Given the description of an element on the screen output the (x, y) to click on. 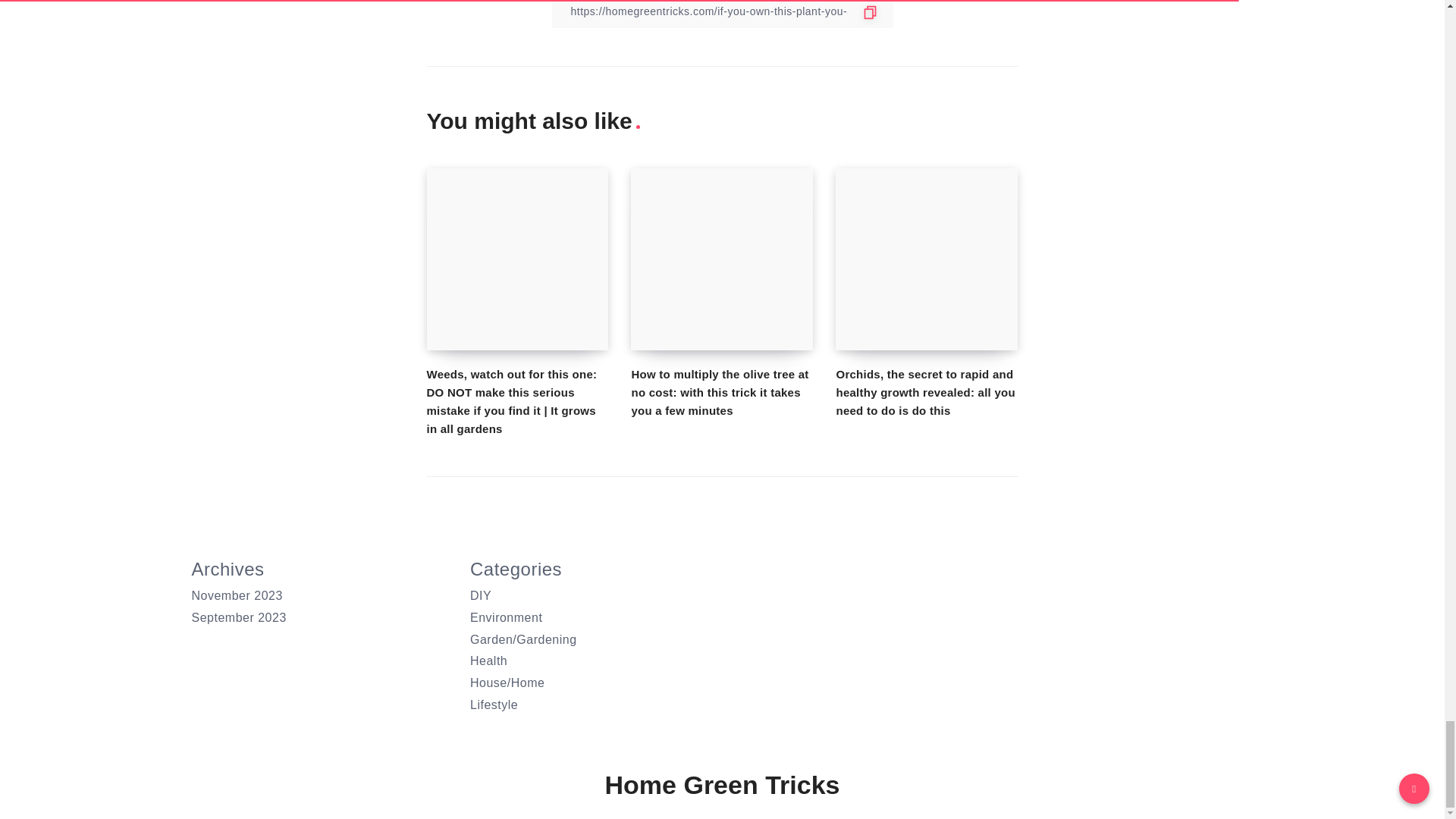
Home Green Tricks (722, 784)
DIY (481, 594)
September 2023 (237, 617)
Lifestyle (494, 704)
Health (488, 660)
Environment (505, 617)
November 2023 (236, 594)
